Given the description of an element on the screen output the (x, y) to click on. 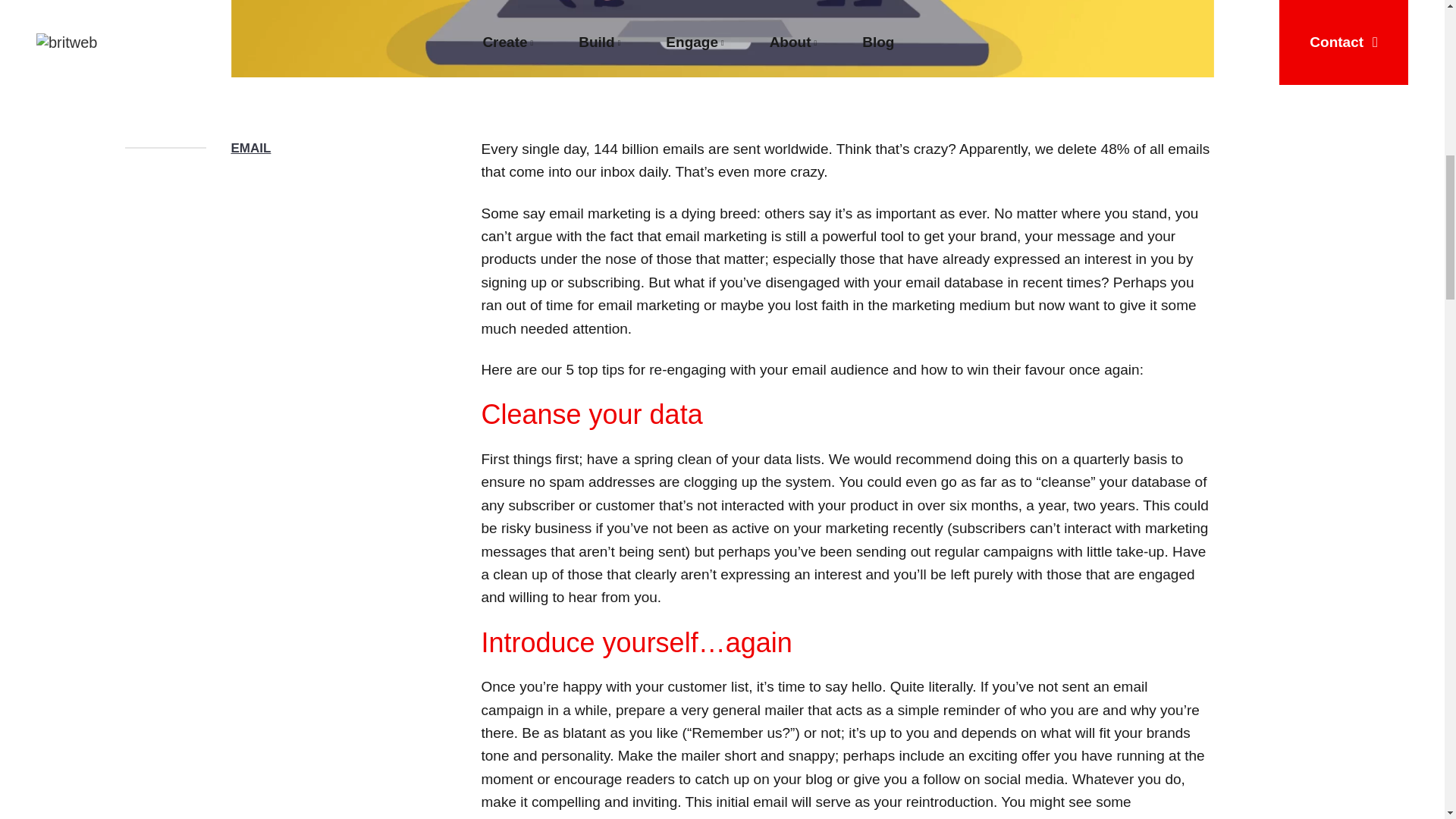
EMAIL (250, 147)
